Given the description of an element on the screen output the (x, y) to click on. 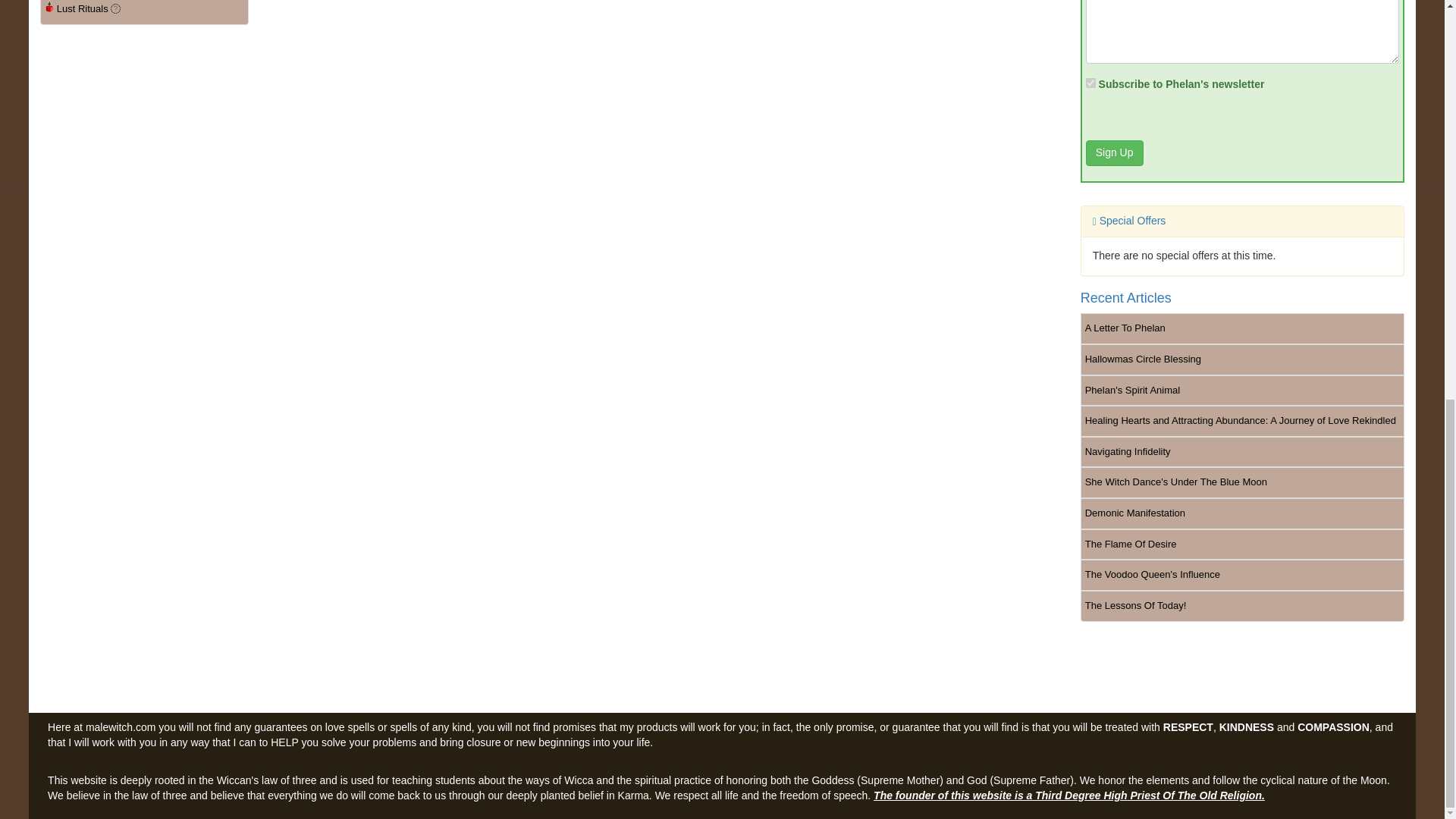
Lust Rituals (144, 12)
1 (1091, 82)
